Given the description of an element on the screen output the (x, y) to click on. 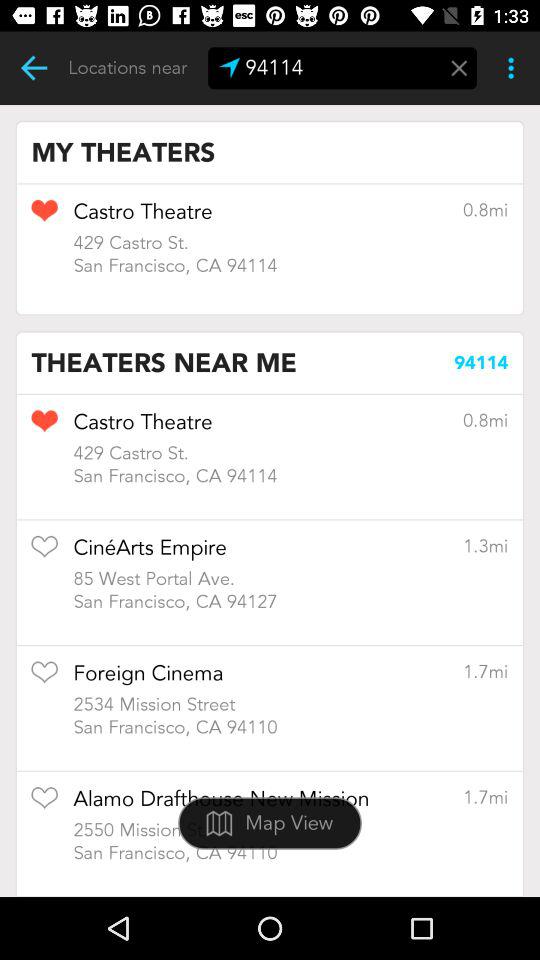
like button (44, 678)
